Given the description of an element on the screen output the (x, y) to click on. 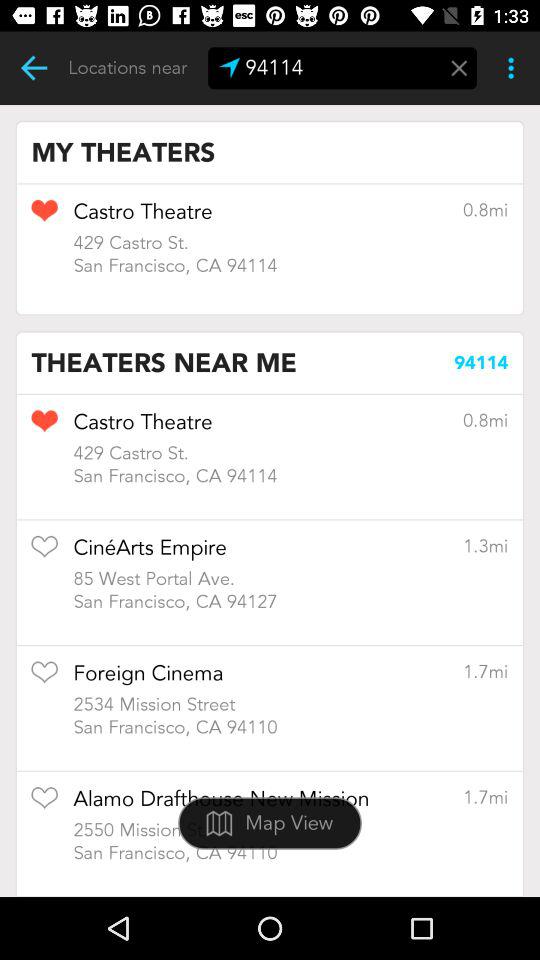
like button (44, 678)
